Given the description of an element on the screen output the (x, y) to click on. 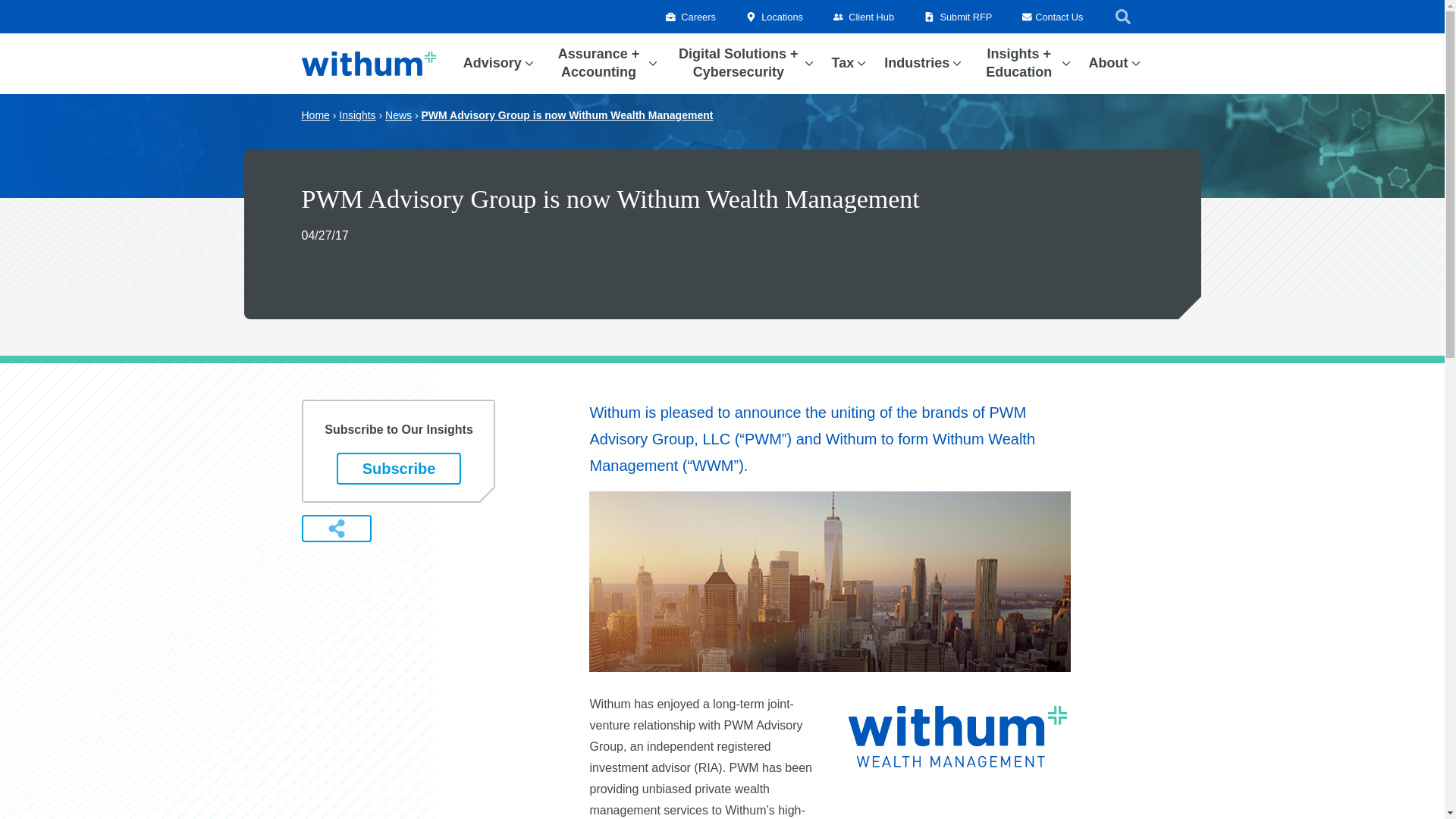
Locations (774, 16)
Advisory (492, 63)
Careers (690, 16)
Contact Us (1052, 16)
Client Hub (862, 16)
Withum (368, 63)
Submit RFP (957, 16)
Search (1122, 16)
